Given the description of an element on the screen output the (x, y) to click on. 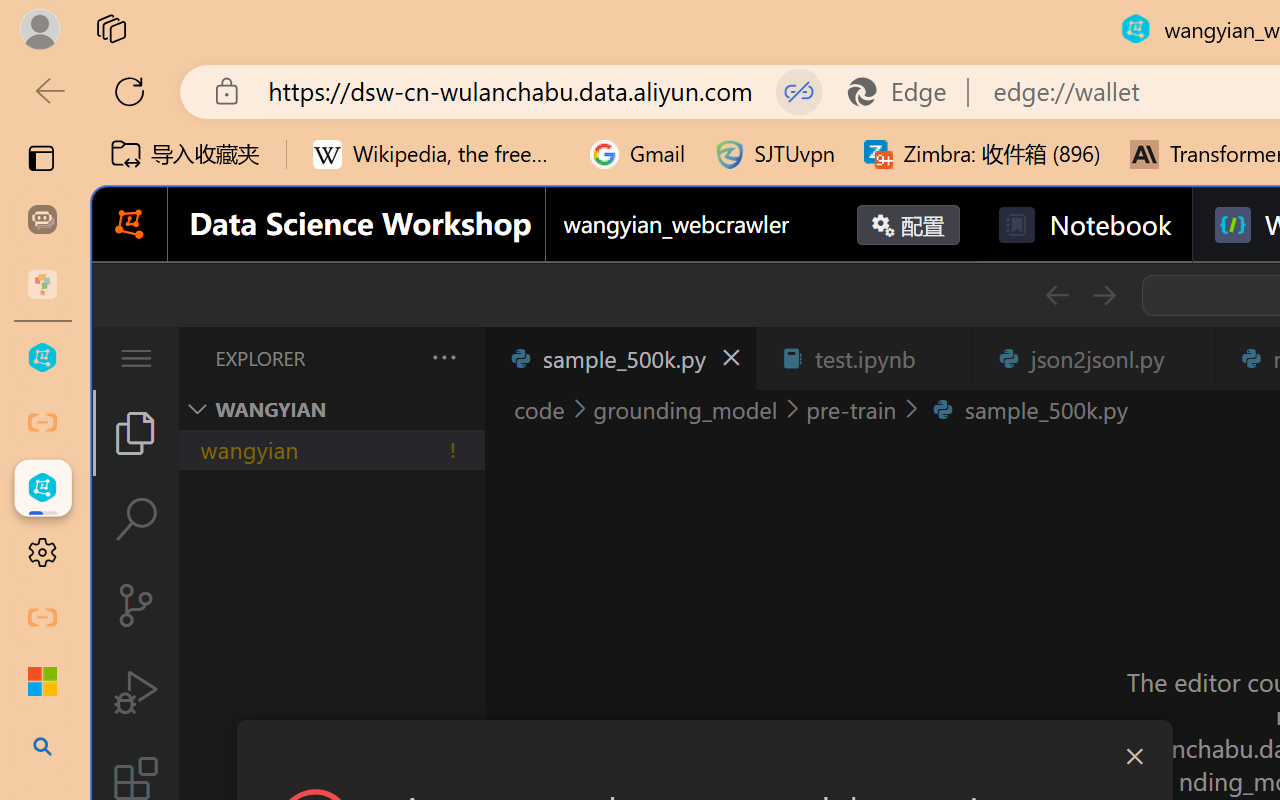
Reveal (605, 111)
Shape (852, 111)
Wipe (441, 111)
Flash (1098, 111)
Fade (277, 111)
Morph (195, 111)
Uncover (934, 111)
Random Bars (770, 111)
